Given the description of an element on the screen output the (x, y) to click on. 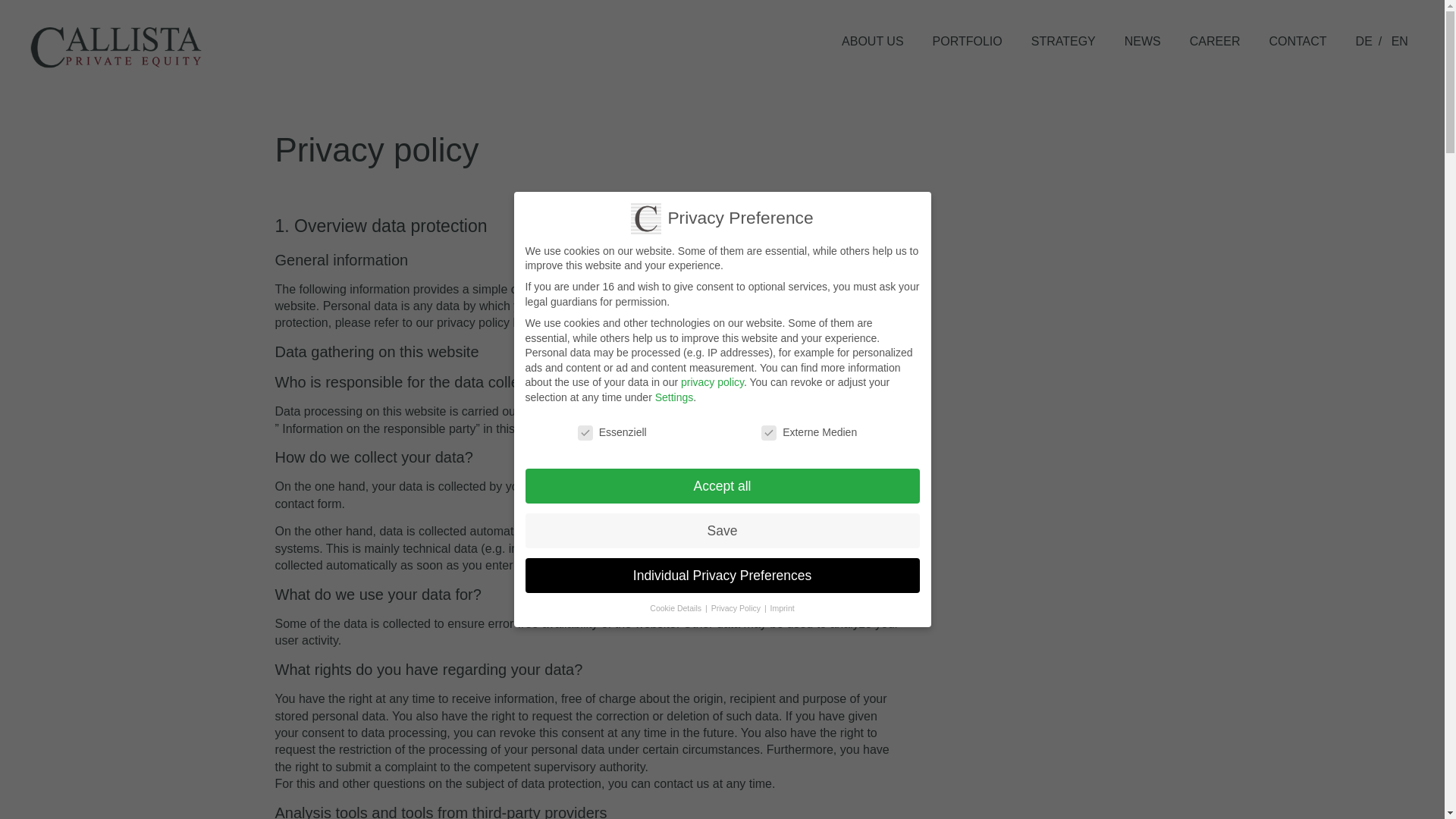
EN (1399, 41)
STRATEGY (1063, 41)
NEWS (1142, 41)
En (1399, 41)
PORTFOLIO (968, 41)
CAREER (1214, 41)
CONTACT (1297, 41)
ABOUT US (872, 41)
